Given the description of an element on the screen output the (x, y) to click on. 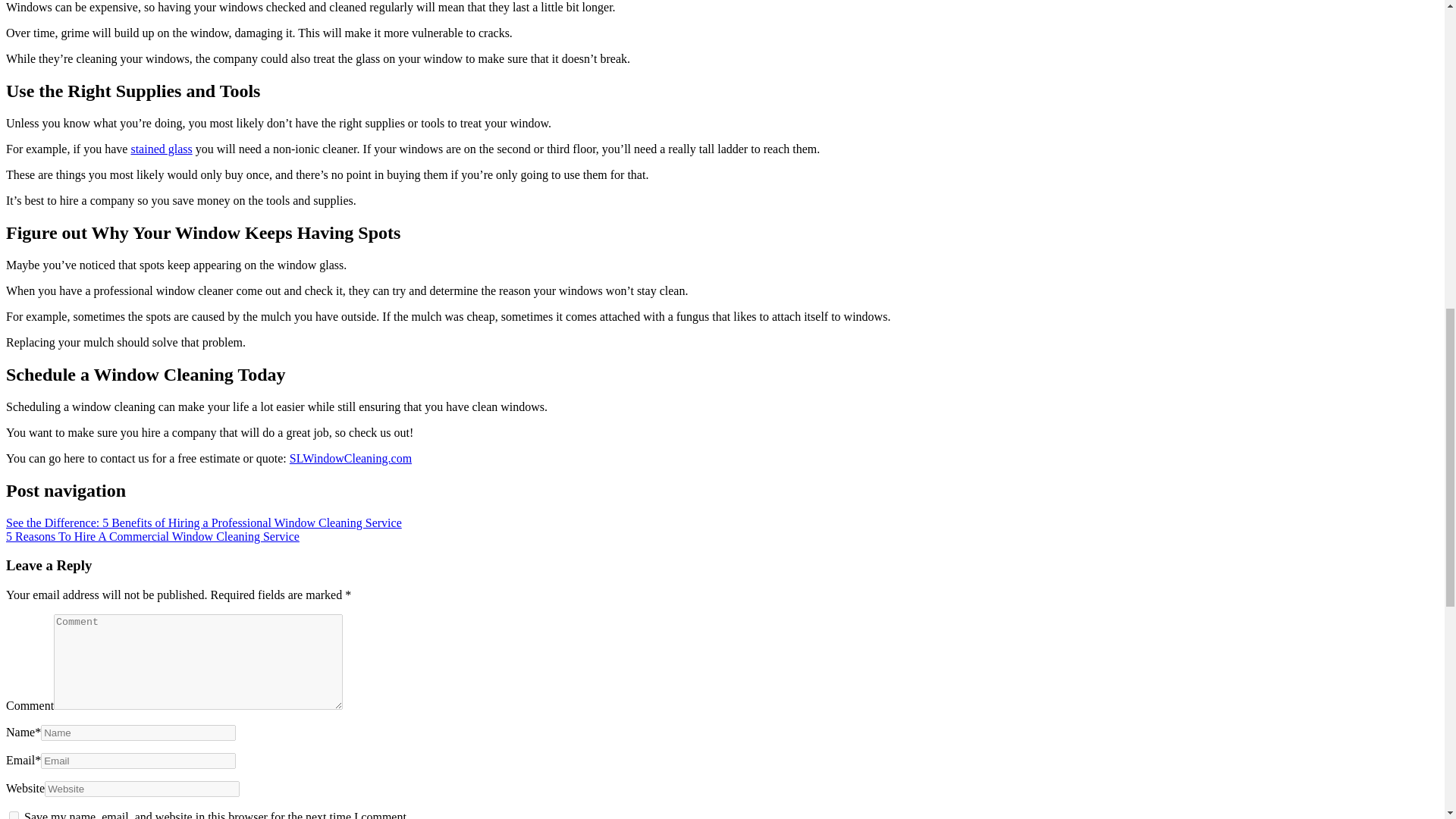
yes (13, 815)
stained glass (161, 148)
SLWindowCleaning.com (350, 458)
5 Reasons To Hire A Commercial Window Cleaning Service (152, 535)
